Given the description of an element on the screen output the (x, y) to click on. 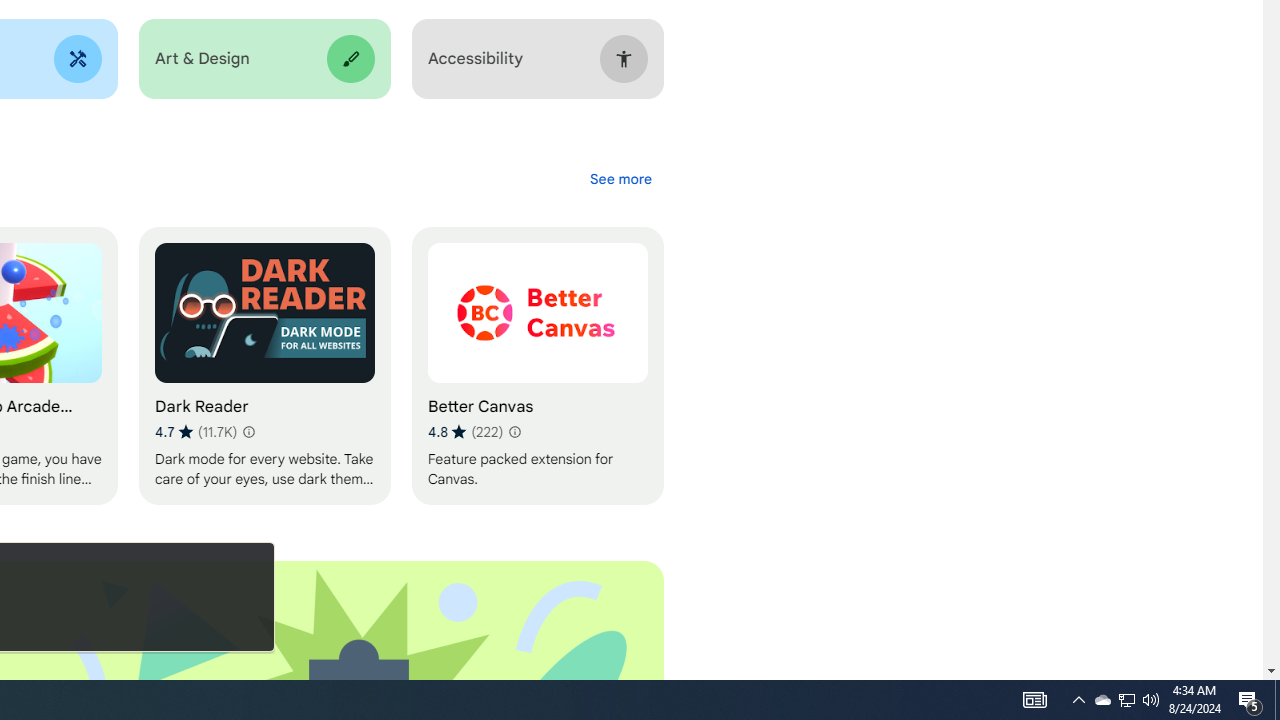
Dark Reader (264, 366)
Learn more about results and reviews "Better Canvas" (513, 431)
Average rating 4.7 out of 5 stars. 11.7K ratings. (195, 431)
Accessibility (537, 59)
Average rating 4.8 out of 5 stars. 222 ratings. (465, 431)
Art & Design (264, 59)
Better Canvas (537, 366)
Learn more about results and reviews "Dark Reader" (247, 431)
See more personalized recommendations (620, 178)
